Given the description of an element on the screen output the (x, y) to click on. 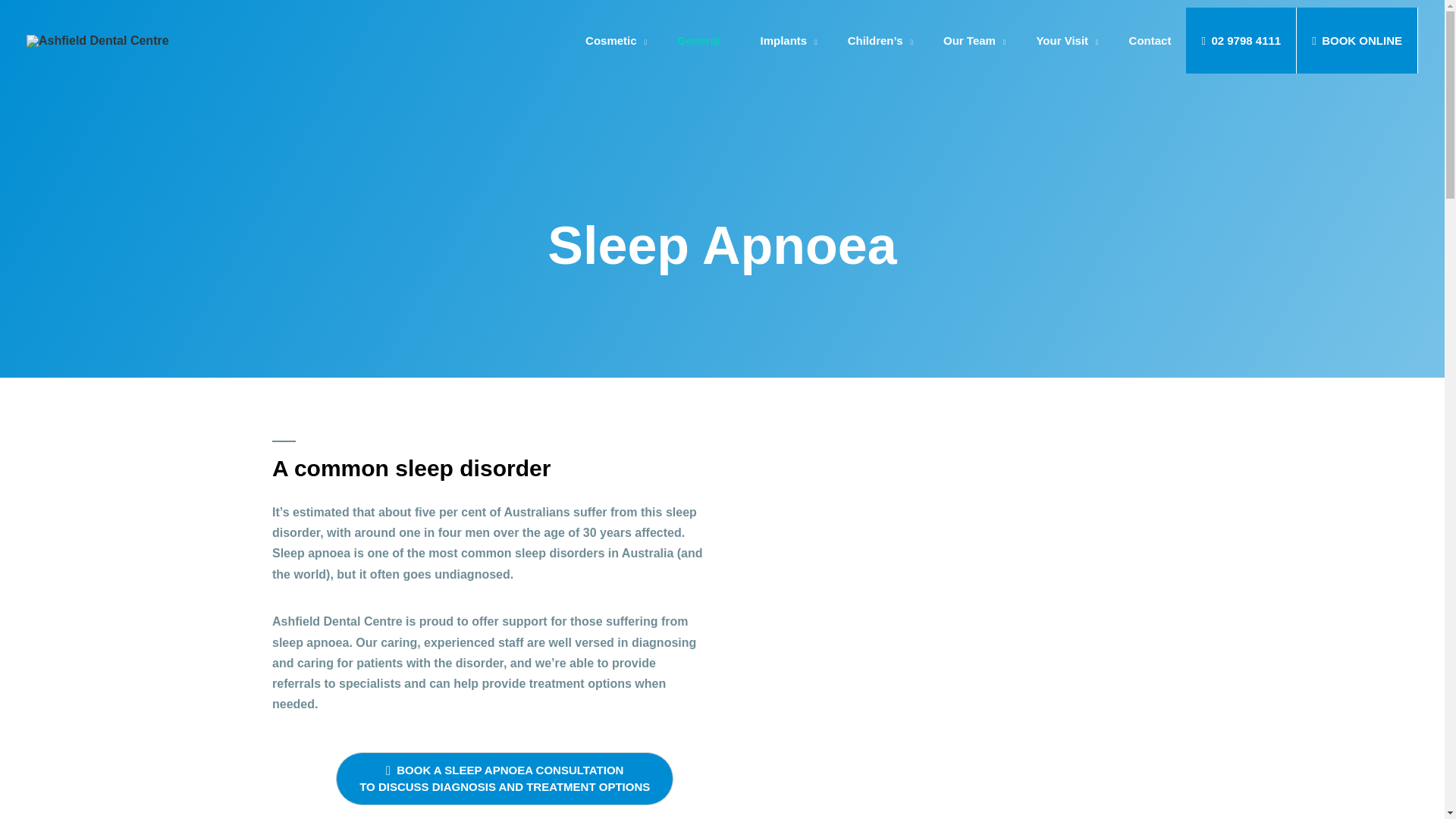
Our Team (974, 40)
Cosmetic (616, 40)
Implants (787, 40)
Your Visit (1066, 40)
General (703, 40)
